Given the description of an element on the screen output the (x, y) to click on. 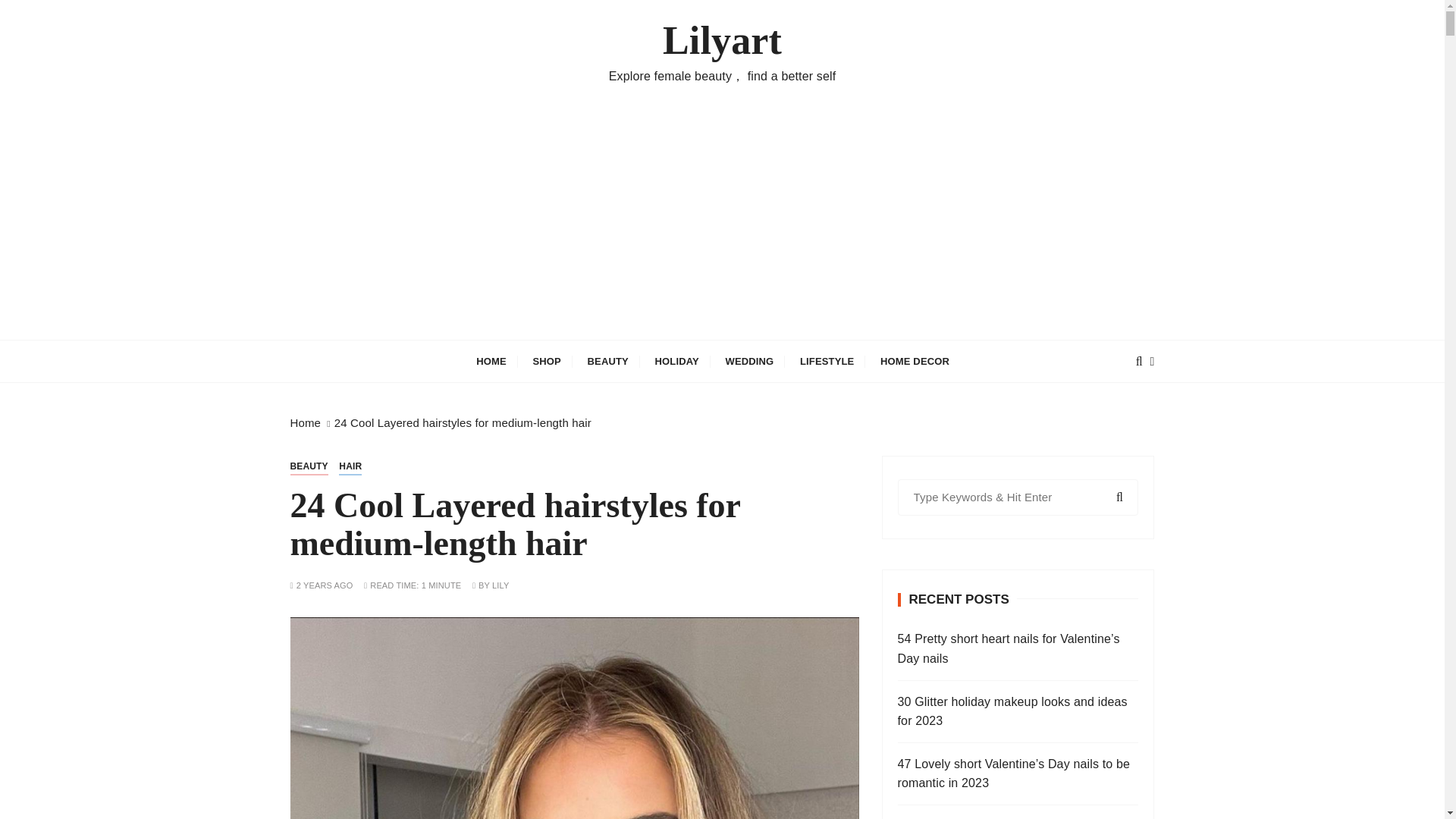
HOME DECOR (914, 361)
HAIR (350, 466)
Lilyart (721, 40)
BEAUTY (608, 361)
24 Cool Layered hairstyles for medium-length hair (462, 422)
WEDDING (748, 361)
BEAUTY (308, 466)
HOME (491, 361)
SHOP (546, 361)
Home (304, 422)
HOLIDAY (676, 361)
LILY (500, 585)
LIFESTYLE (826, 361)
